Given the description of an element on the screen output the (x, y) to click on. 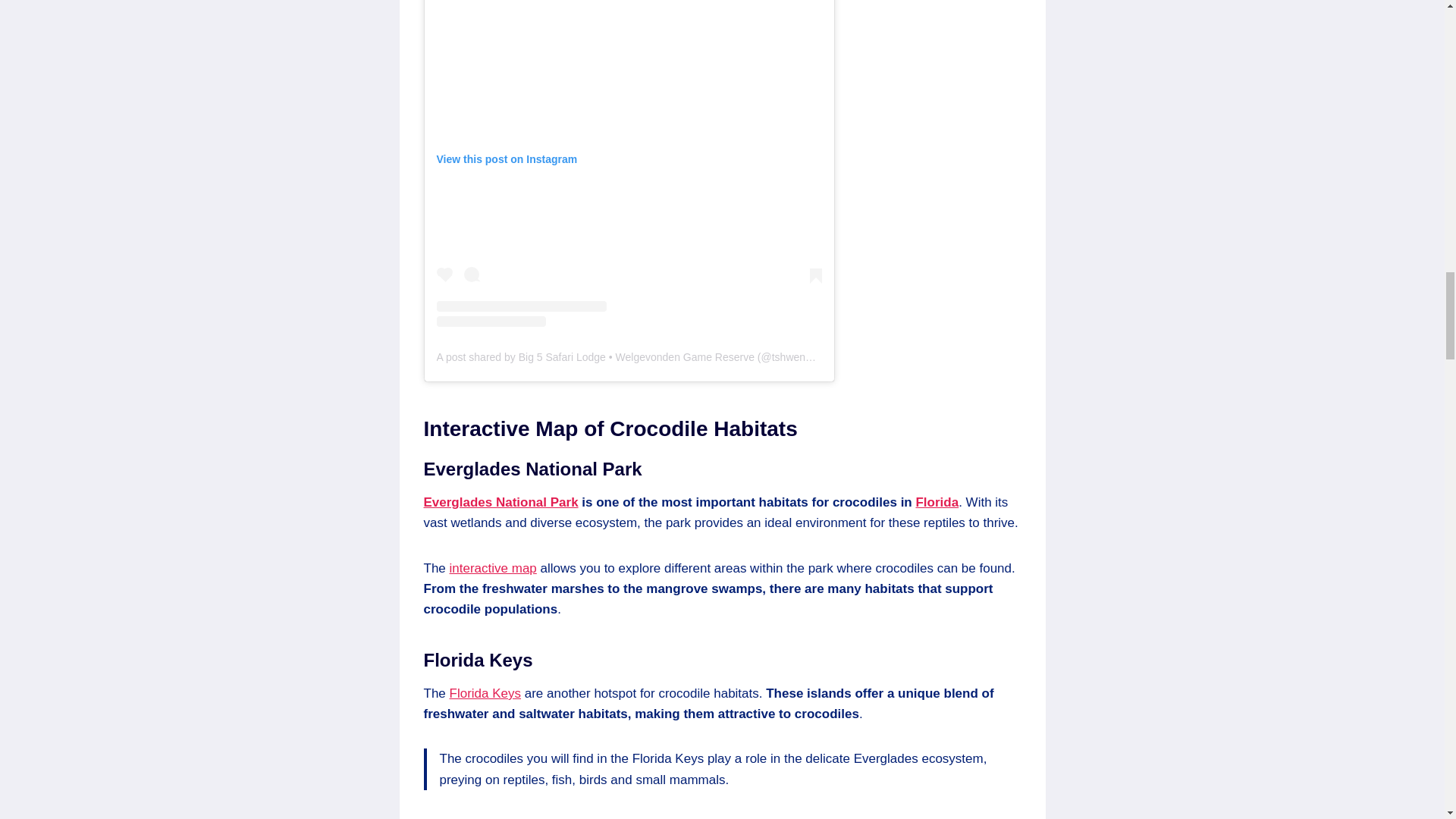
Florida Keys (485, 693)
interactive map (493, 568)
Everglades National Park (500, 502)
Florida (936, 502)
